Given the description of an element on the screen output the (x, y) to click on. 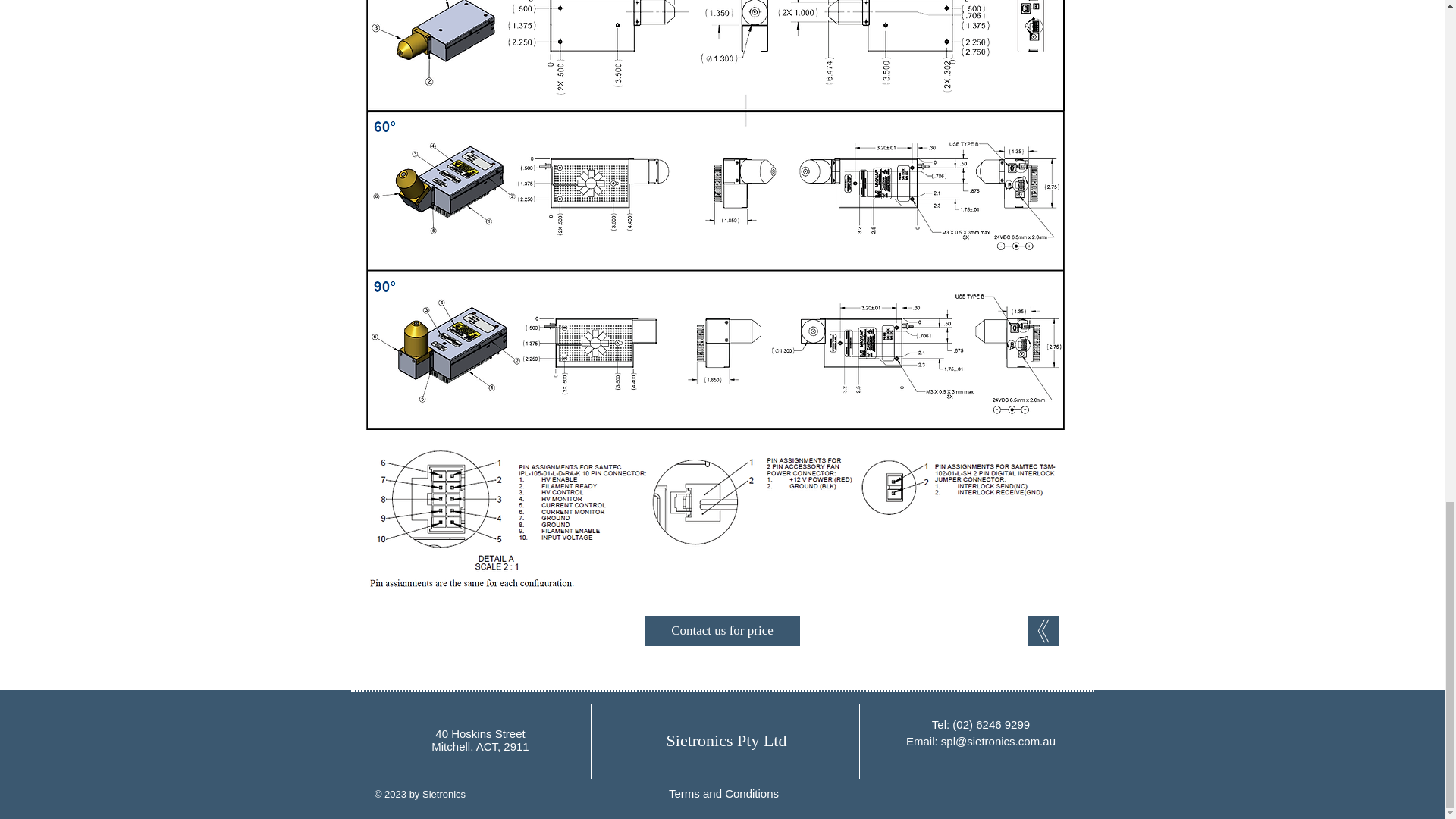
Contact us for price (722, 630)
Sietronics Pty Ltd (726, 740)
Terms and Conditions (723, 793)
